Given the description of an element on the screen output the (x, y) to click on. 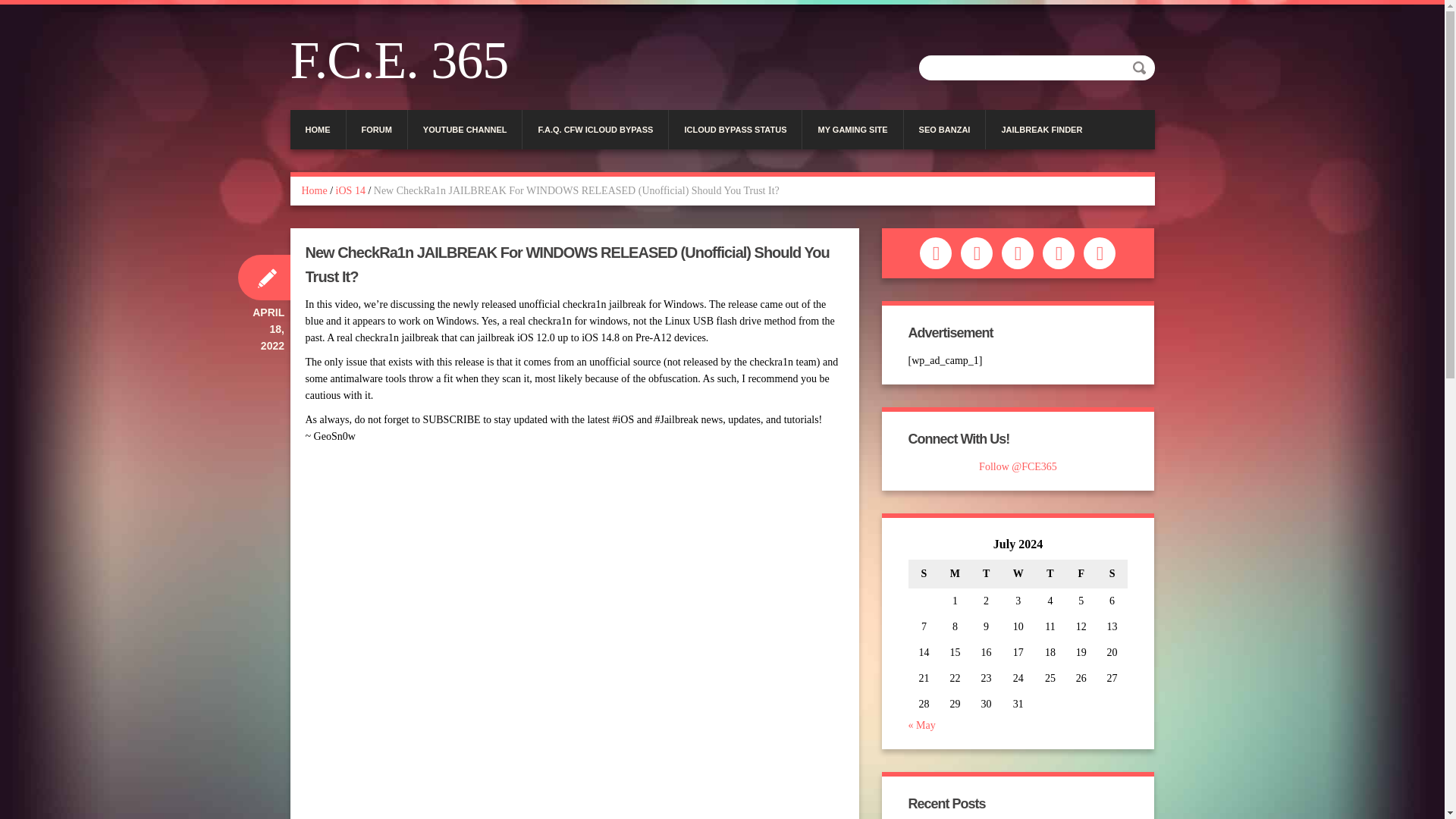
YOUTUBE CHANNEL (464, 129)
F.C.E. 365 (404, 60)
HOME (317, 129)
Home (314, 190)
Thursday (1050, 573)
Sunday (923, 573)
F.A.Q. CFW ICLOUD BYPASS (595, 129)
ICLOUD BYPASS STATUS (735, 129)
Wednesday (1018, 573)
iOS 14 (350, 190)
SEO BANZAI (944, 129)
FORUM (376, 129)
Friday (1080, 573)
Monday (955, 573)
F.C.E. 365 (404, 60)
